Given the description of an element on the screen output the (x, y) to click on. 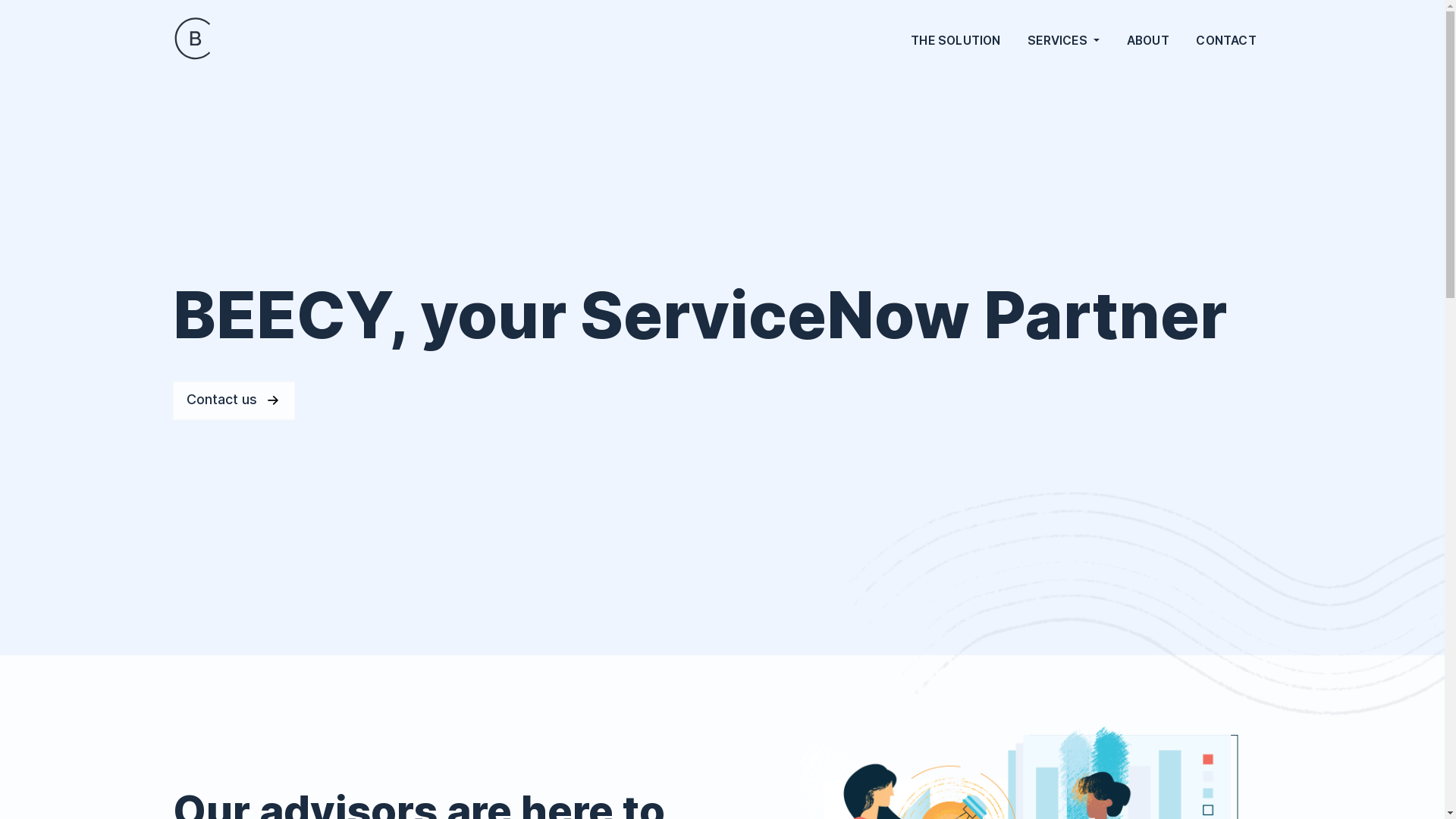
THE SOLUTION Element type: text (955, 40)
SERVICES Element type: text (1062, 40)
CONTACT Element type: text (1226, 40)
Contact us Element type: text (233, 400)
ABOUT Element type: text (1148, 40)
